Given the description of an element on the screen output the (x, y) to click on. 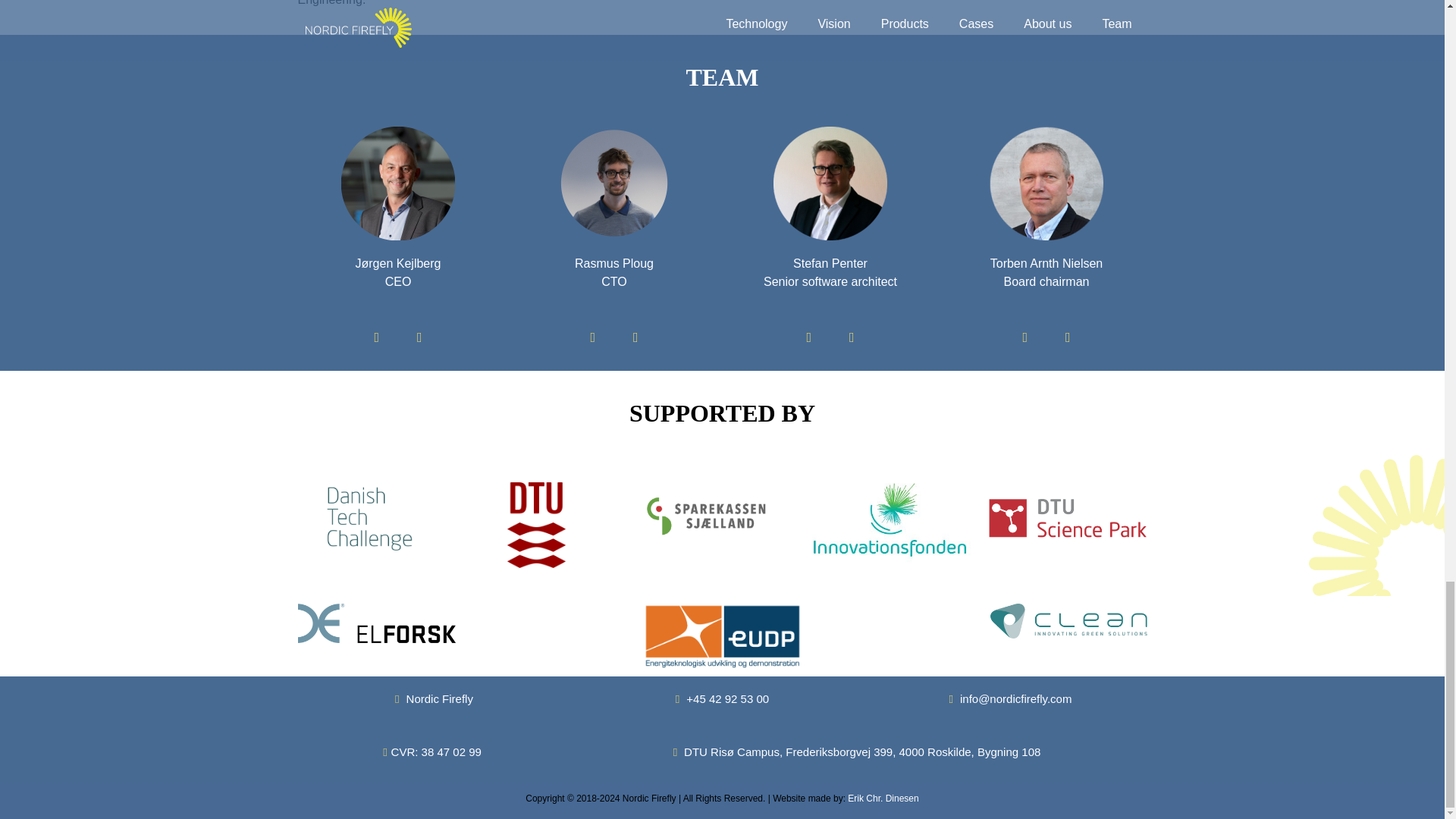
Nordic Firefly (434, 698)
CVR: 38 47 02 99 (432, 752)
Erik Chr. Dinesen (882, 798)
